Given the description of an element on the screen output the (x, y) to click on. 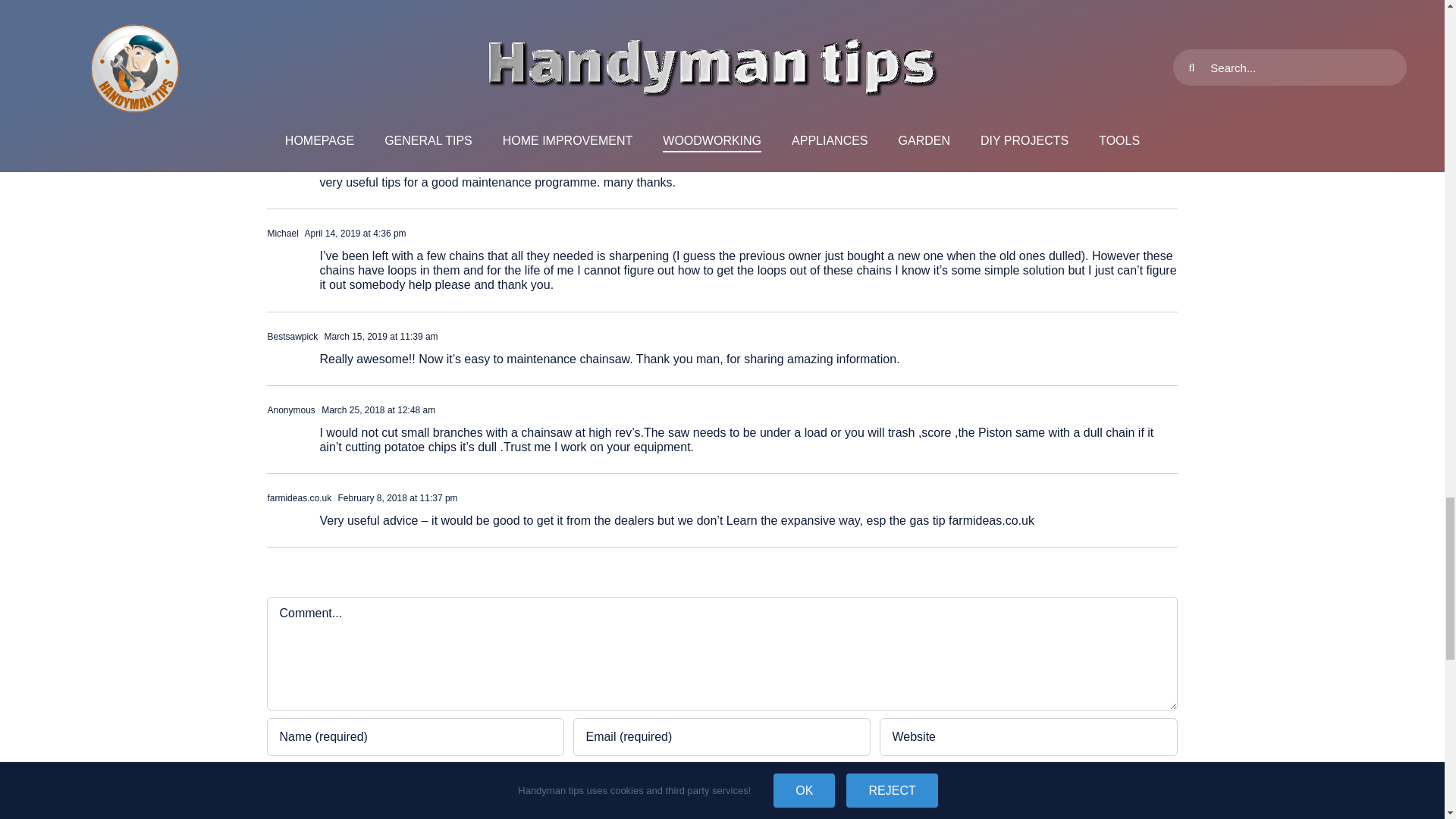
Post Comment (337, 810)
Post Comment (337, 810)
yes (274, 779)
